Given the description of an element on the screen output the (x, y) to click on. 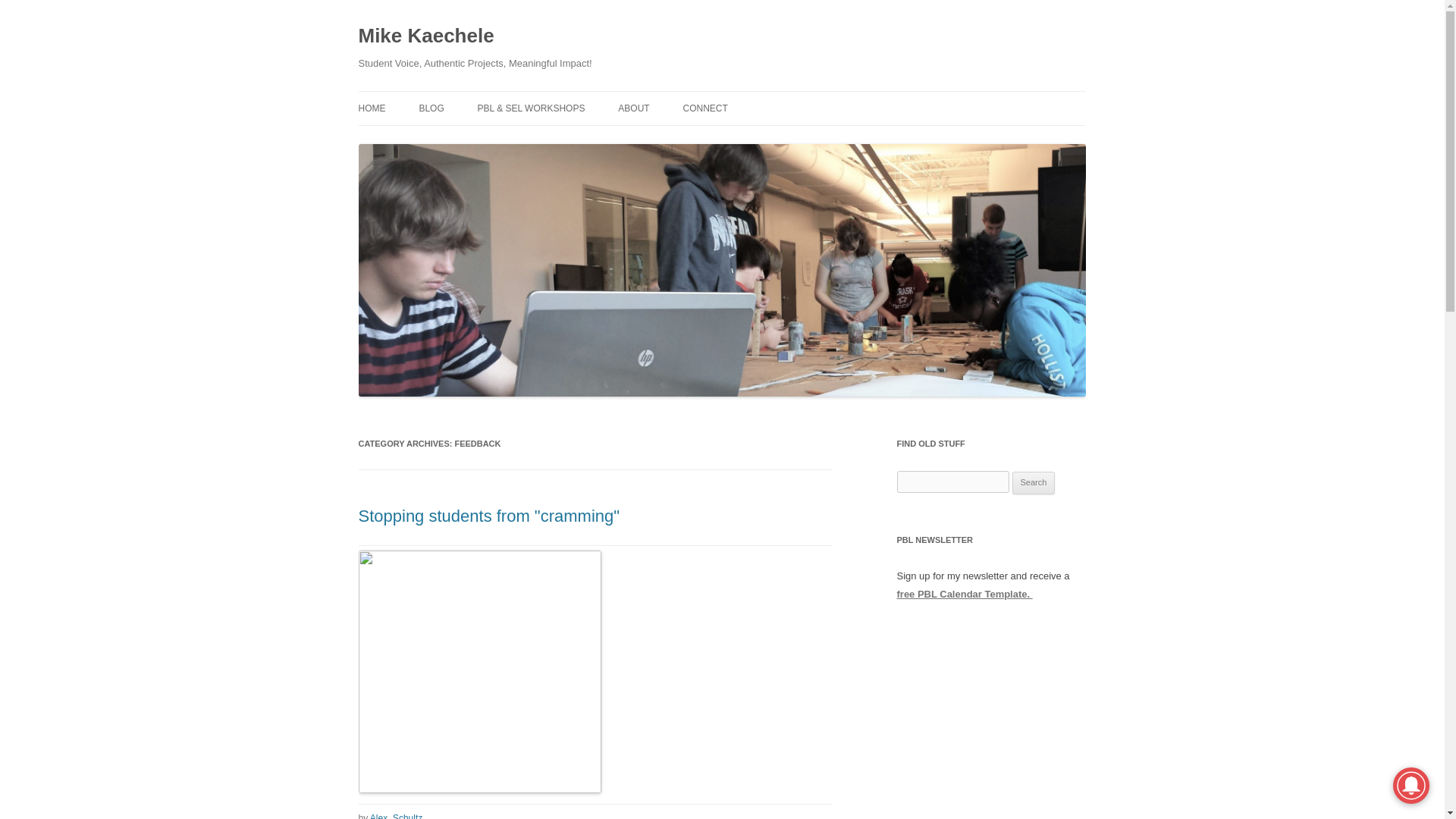
CONNECT (705, 108)
Stopping students from "cramming" (489, 515)
ABOUT (633, 108)
Search (1033, 482)
free PBL Calendar Template.  (964, 593)
Alex. Schultz (395, 816)
Mike Kaechele (425, 36)
Search (1033, 482)
